Given the description of an element on the screen output the (x, y) to click on. 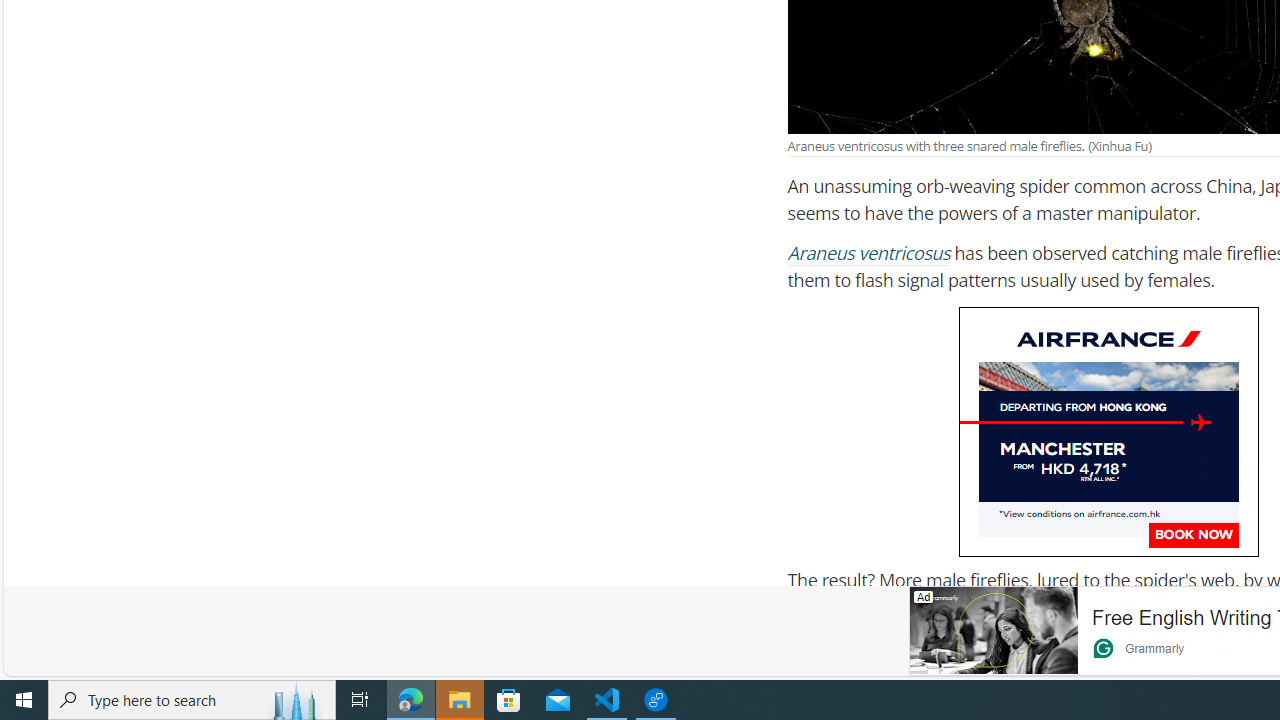
Araneus ventricosus (869, 254)
Abscondita terminalis (1008, 673)
